Given the description of an element on the screen output the (x, y) to click on. 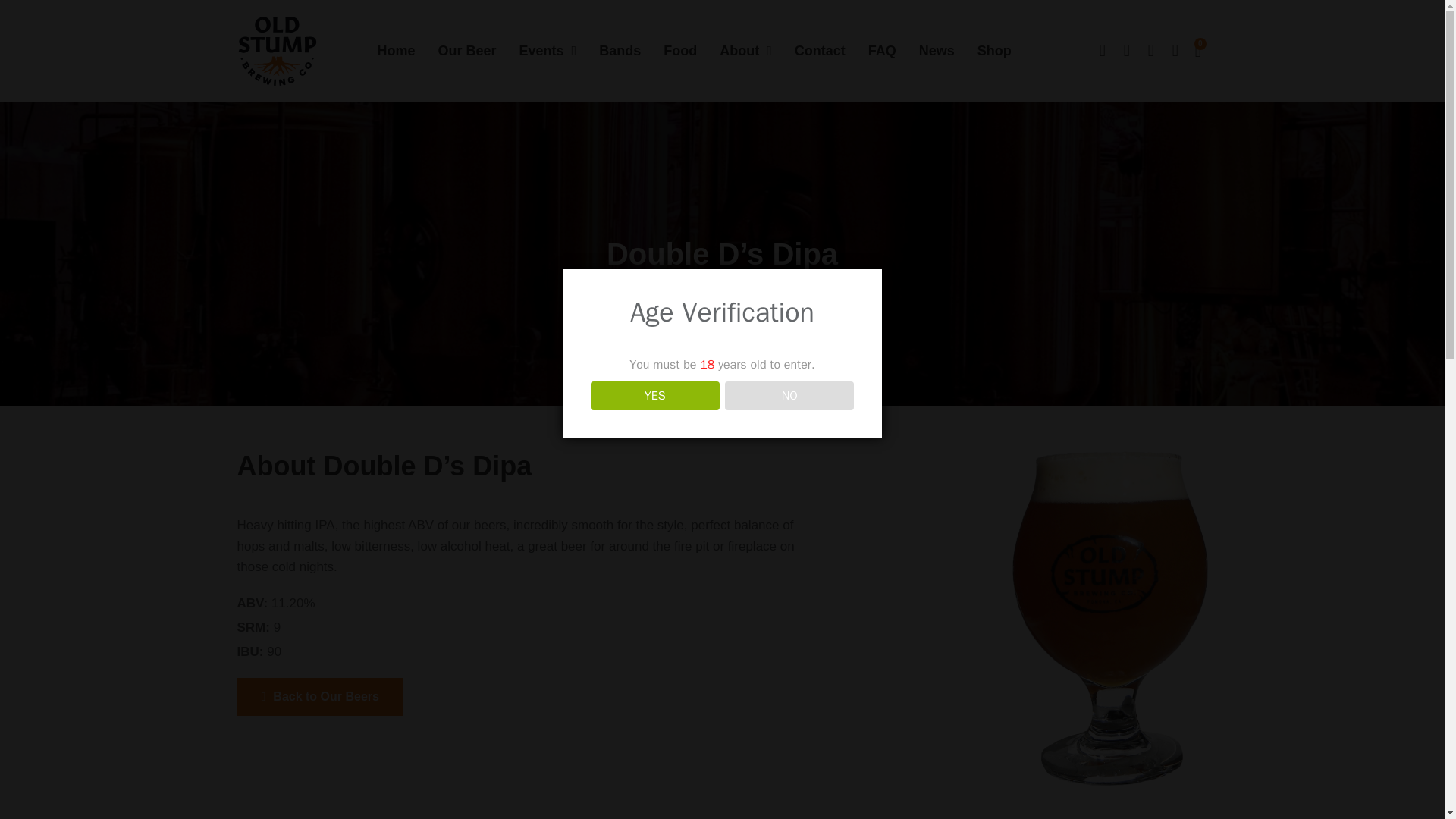
Contact (819, 50)
News (936, 50)
Twitter (1126, 50)
Bands (619, 50)
Food (680, 50)
Facebook-f (1102, 50)
User (1175, 50)
Our Beer (467, 50)
Home (395, 50)
Instagram (1150, 50)
Events (547, 50)
Shop (993, 50)
About (745, 50)
FAQ (881, 50)
